Given the description of an element on the screen output the (x, y) to click on. 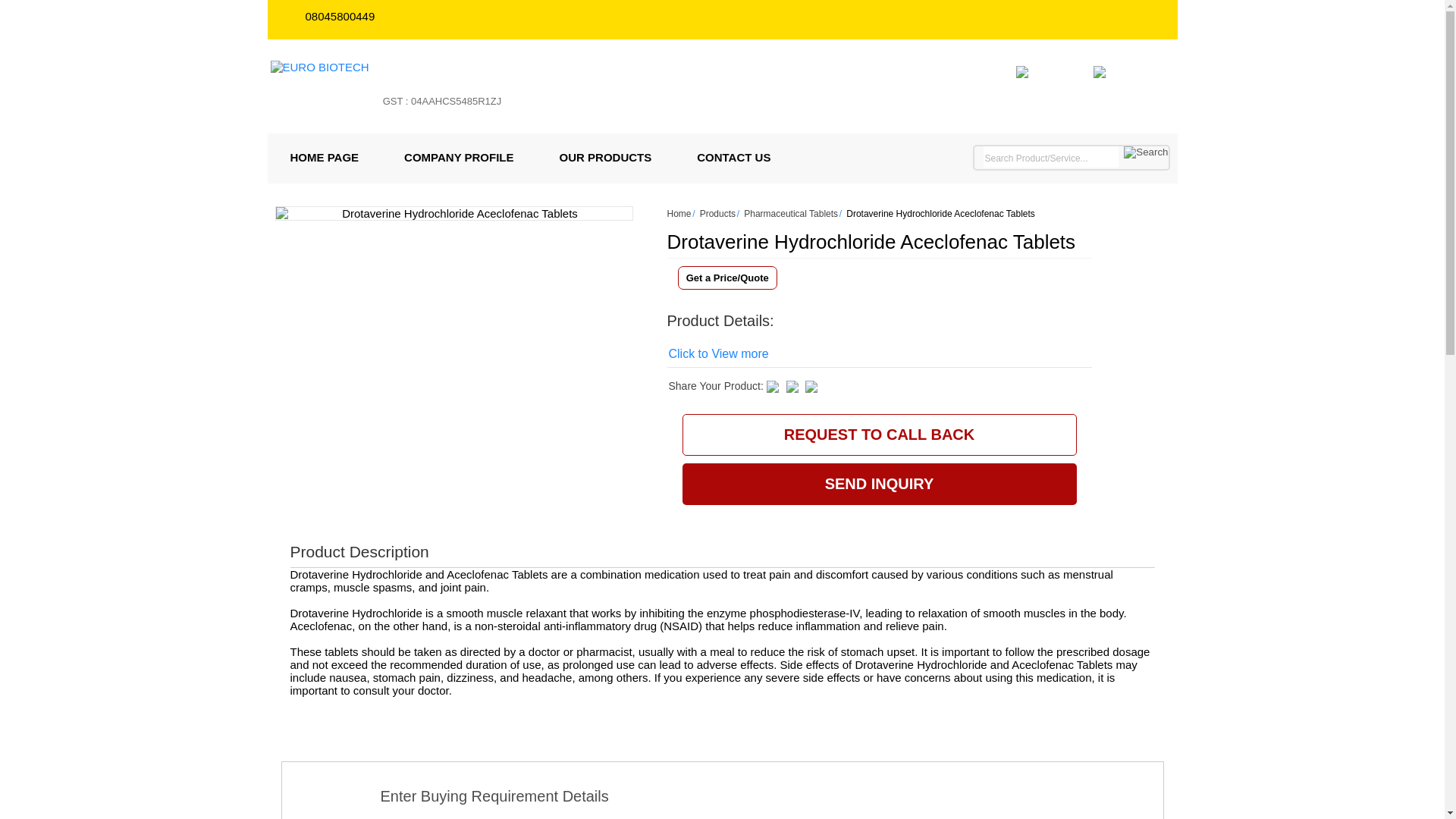
HOME PAGE (323, 156)
COMPANY PROFILE (458, 156)
submit (1145, 152)
GST : 04AAHCS5485R1ZJ (442, 109)
OUR PRODUCTS (606, 156)
submit (1145, 152)
